Given the description of an element on the screen output the (x, y) to click on. 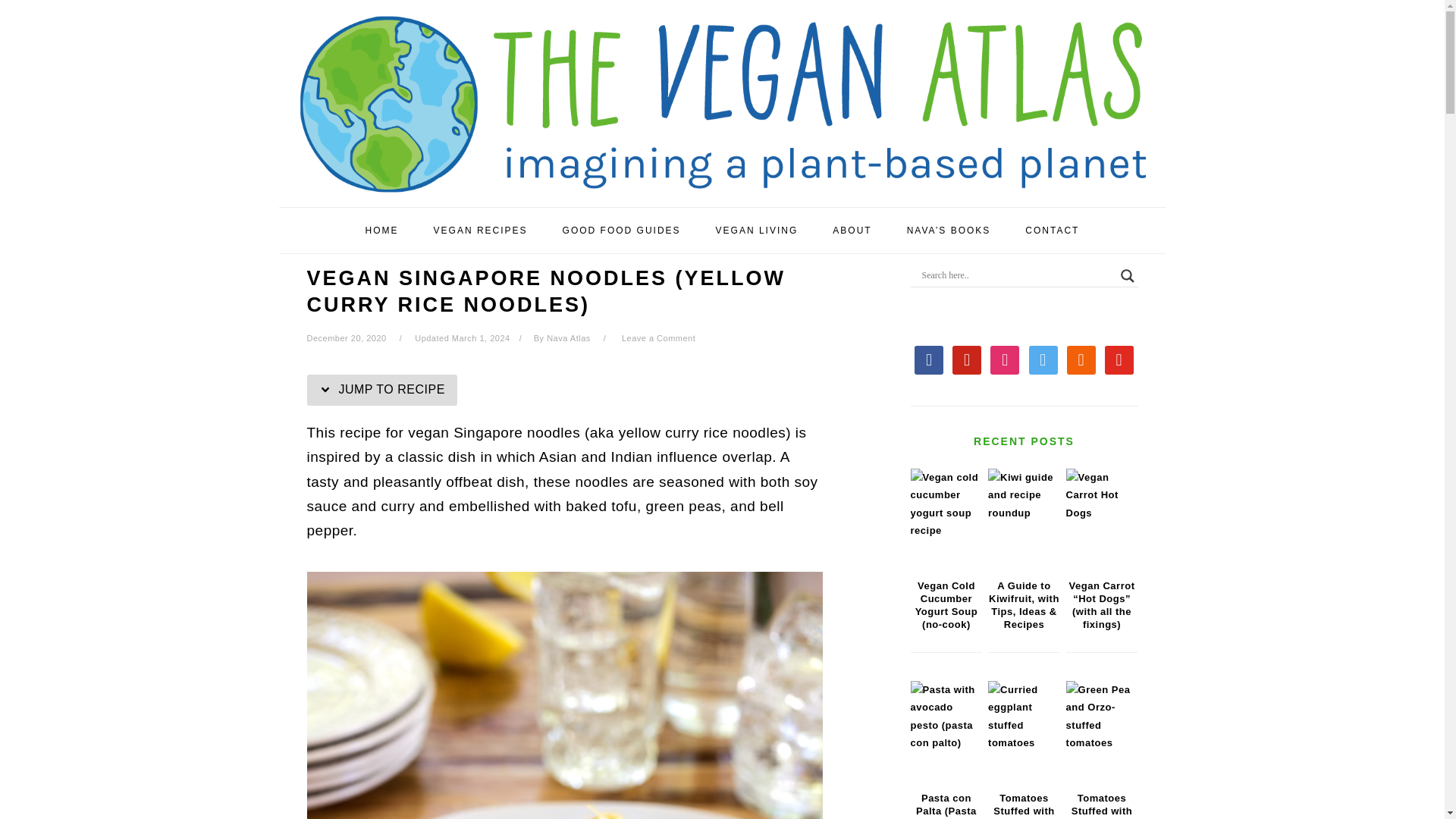
HOME (381, 230)
Default Label (1004, 358)
The Vegan Atlas (722, 183)
Nava Atlas (569, 338)
Leave a Comment (658, 338)
Default Label (1119, 358)
ABOUT (851, 230)
Twitter (1043, 358)
Default Label (966, 358)
Default Label (1081, 358)
VEGAN LIVING (756, 230)
VEGAN RECIPES (480, 230)
CONTACT (1052, 230)
